Given the description of an element on the screen output the (x, y) to click on. 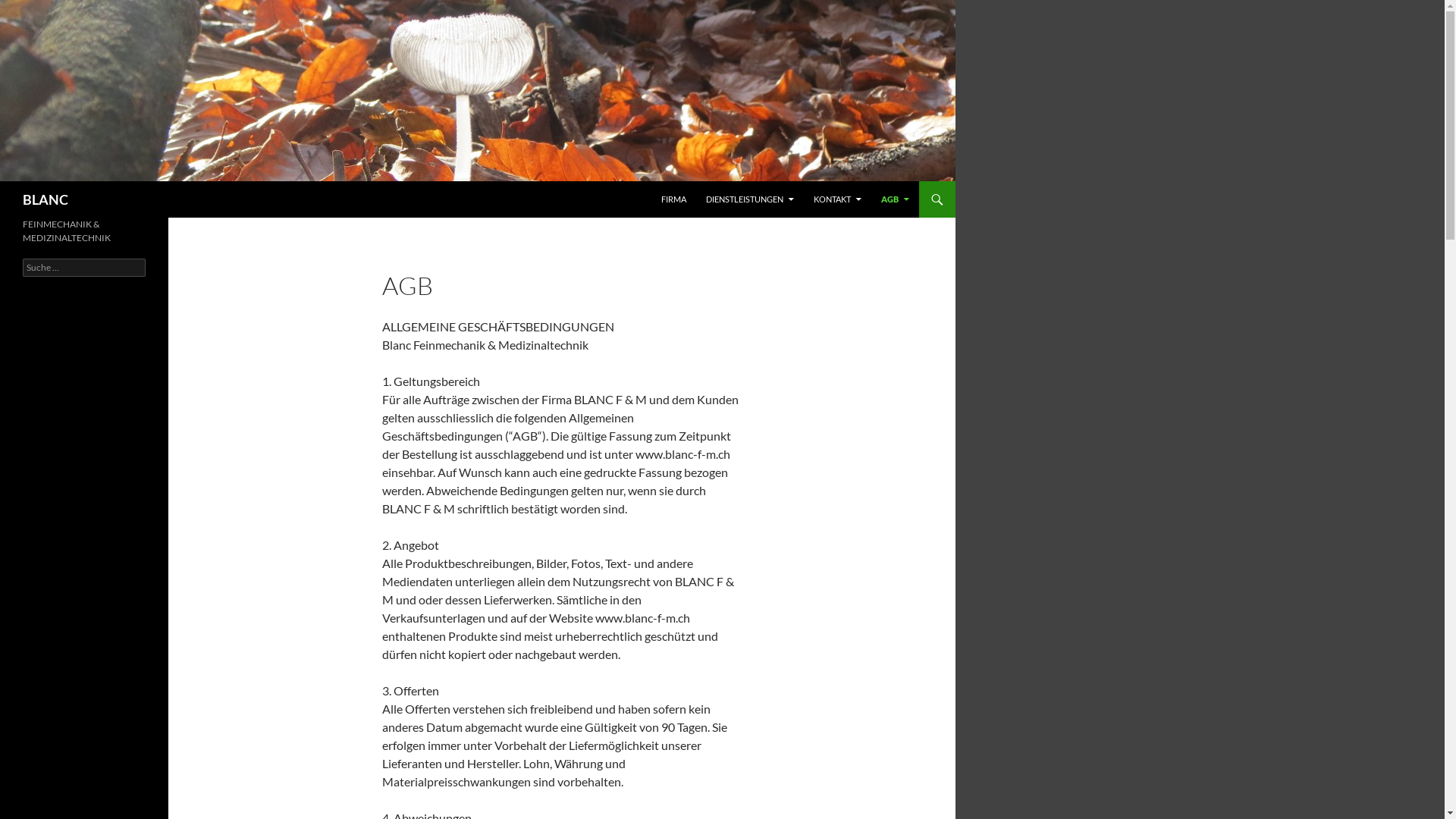
ZUM INHALT SPRINGEN Element type: text (660, 180)
BLANC Element type: text (45, 199)
AGB Element type: text (895, 199)
DIENSTLEISTUNGEN Element type: text (749, 199)
Suchen Element type: text (3, 180)
KONTAKT Element type: text (837, 199)
Suche Element type: text (26, 9)
FIRMA Element type: text (673, 199)
